Given the description of an element on the screen output the (x, y) to click on. 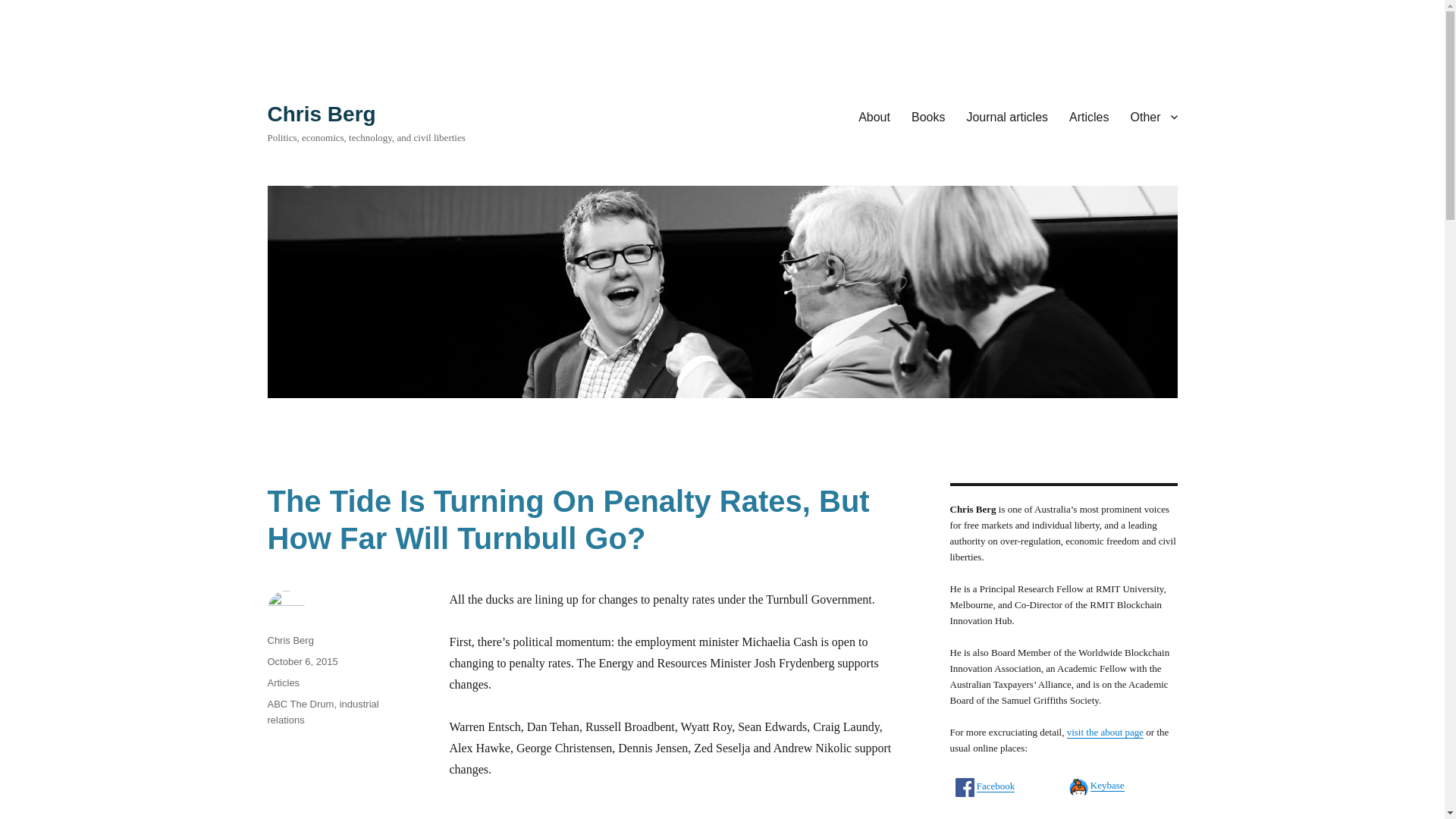
Books (928, 116)
SSRN (1102, 816)
Chris Berg (289, 640)
Chris Berg (320, 114)
Articles (282, 682)
Twitter (990, 816)
Articles (1088, 116)
October 6, 2015 (301, 661)
Other (1153, 116)
Keybase (1107, 785)
